Given the description of an element on the screen output the (x, y) to click on. 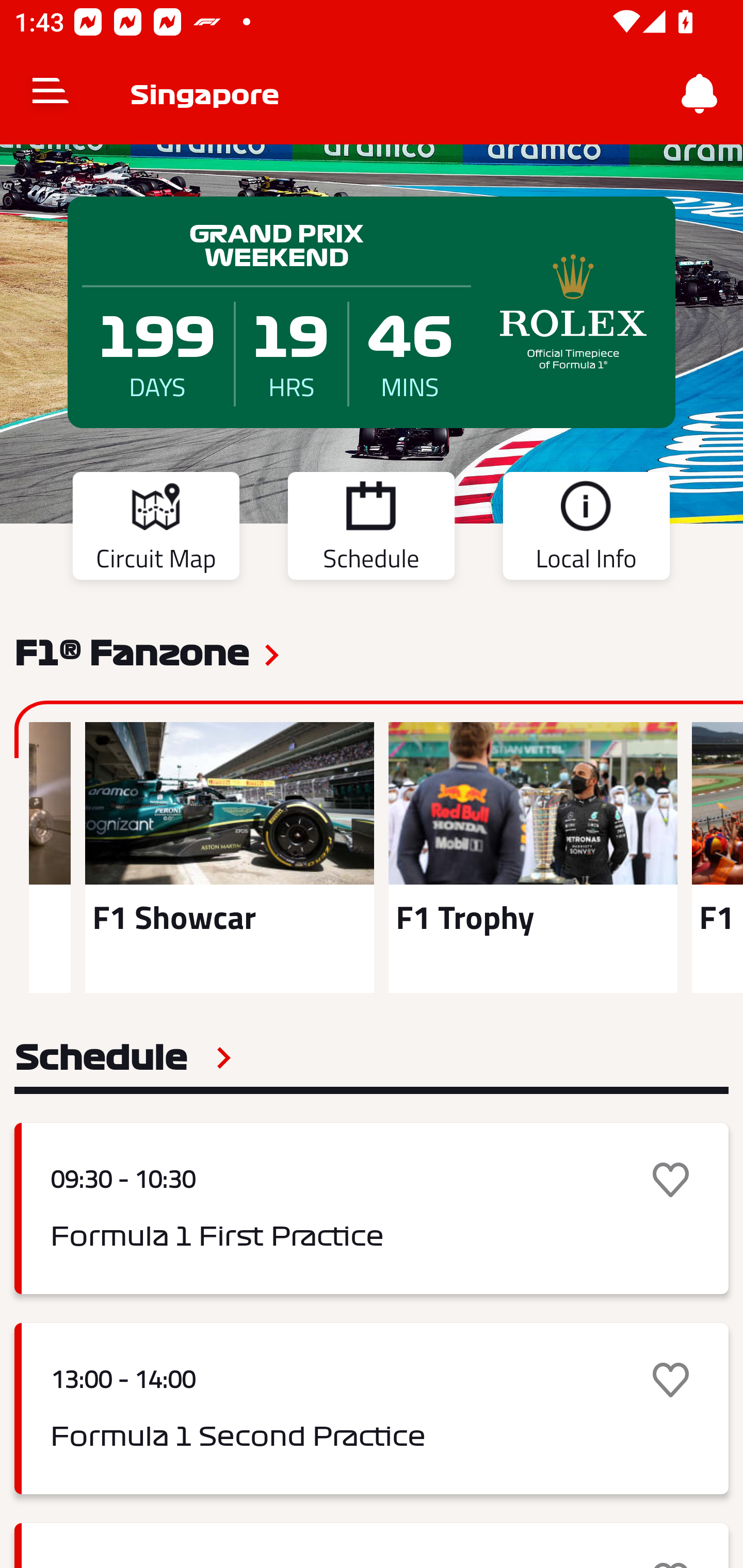
Navigate up (50, 93)
Notifications (699, 93)
Circuit Map (155, 528)
Schedule (370, 528)
Local Info (586, 528)
F1® Fanzone (131, 651)
F1 Showcar (229, 857)
F1 Trophy (532, 857)
Schedule (122, 1057)
09:30 - 10:30 Formula 1 First Practice (371, 1207)
13:00 - 14:00 Formula 1 Second Practice (371, 1408)
